Given the description of an element on the screen output the (x, y) to click on. 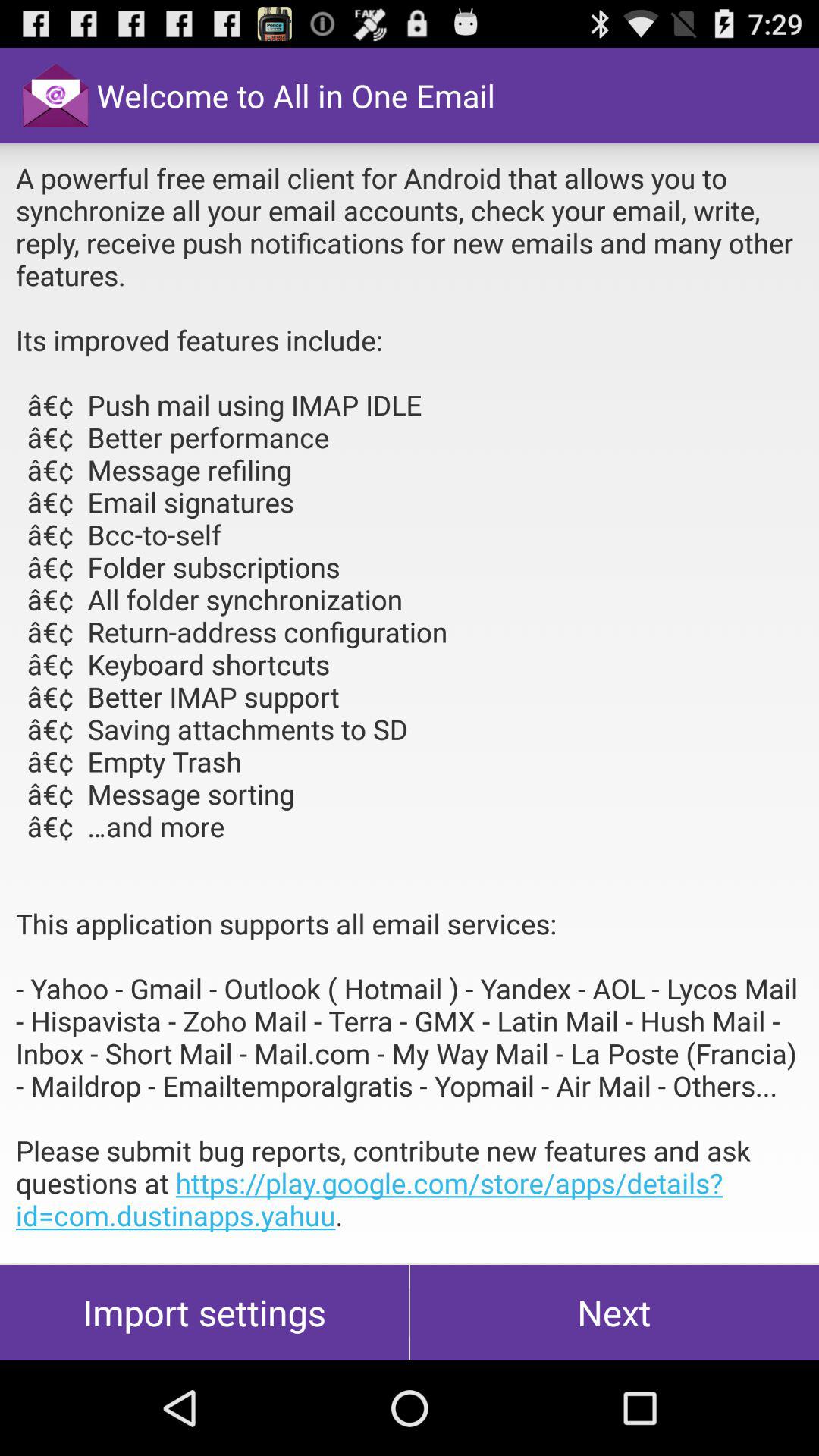
jump to a powerful free (409, 702)
